Given the description of an element on the screen output the (x, y) to click on. 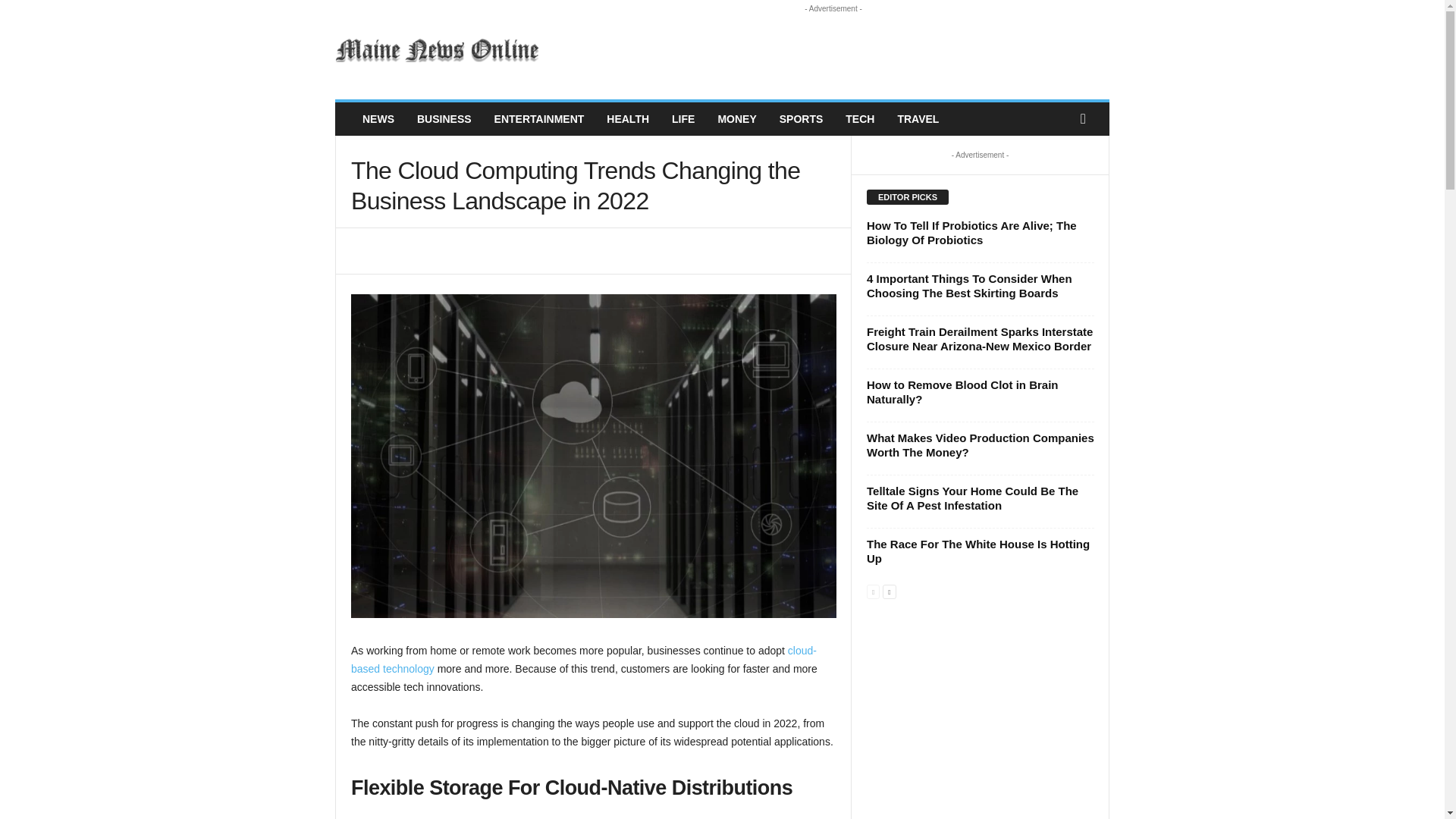
ENTERTAINMENT (539, 118)
TRAVEL (917, 118)
cloud-based technology (583, 659)
NEWS (378, 118)
HEALTH (628, 118)
BUSINESS (444, 118)
MONEY (736, 118)
LIFE (683, 118)
Maine News Online (437, 49)
SPORTS (801, 118)
